Given the description of an element on the screen output the (x, y) to click on. 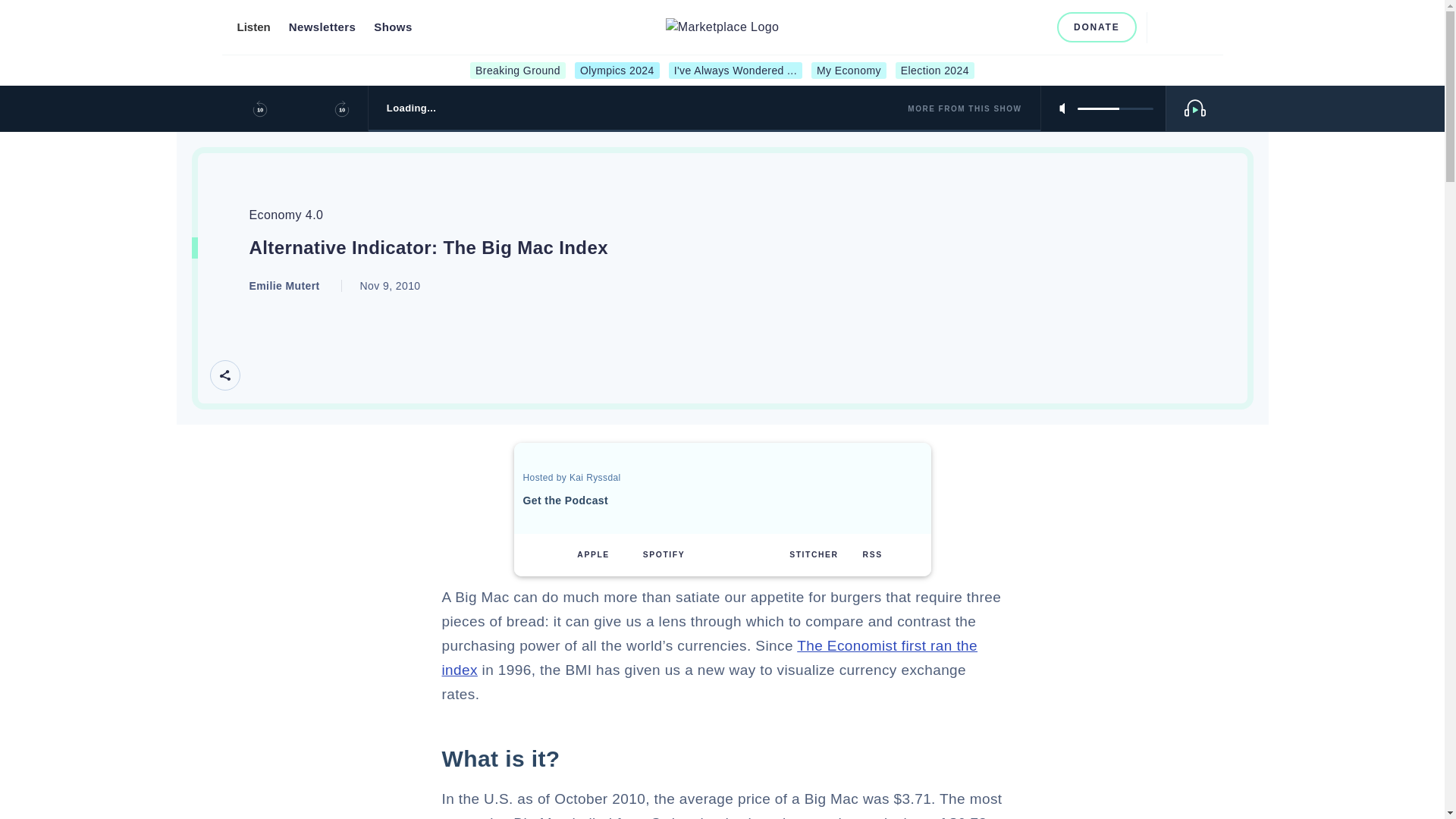
Instagram (985, 27)
5 (1115, 108)
Listen (252, 26)
Facebook (962, 27)
Youtube (1011, 27)
Menu (1198, 27)
Shows (393, 26)
volume (1115, 108)
TikTok (1035, 27)
